Given the description of an element on the screen output the (x, y) to click on. 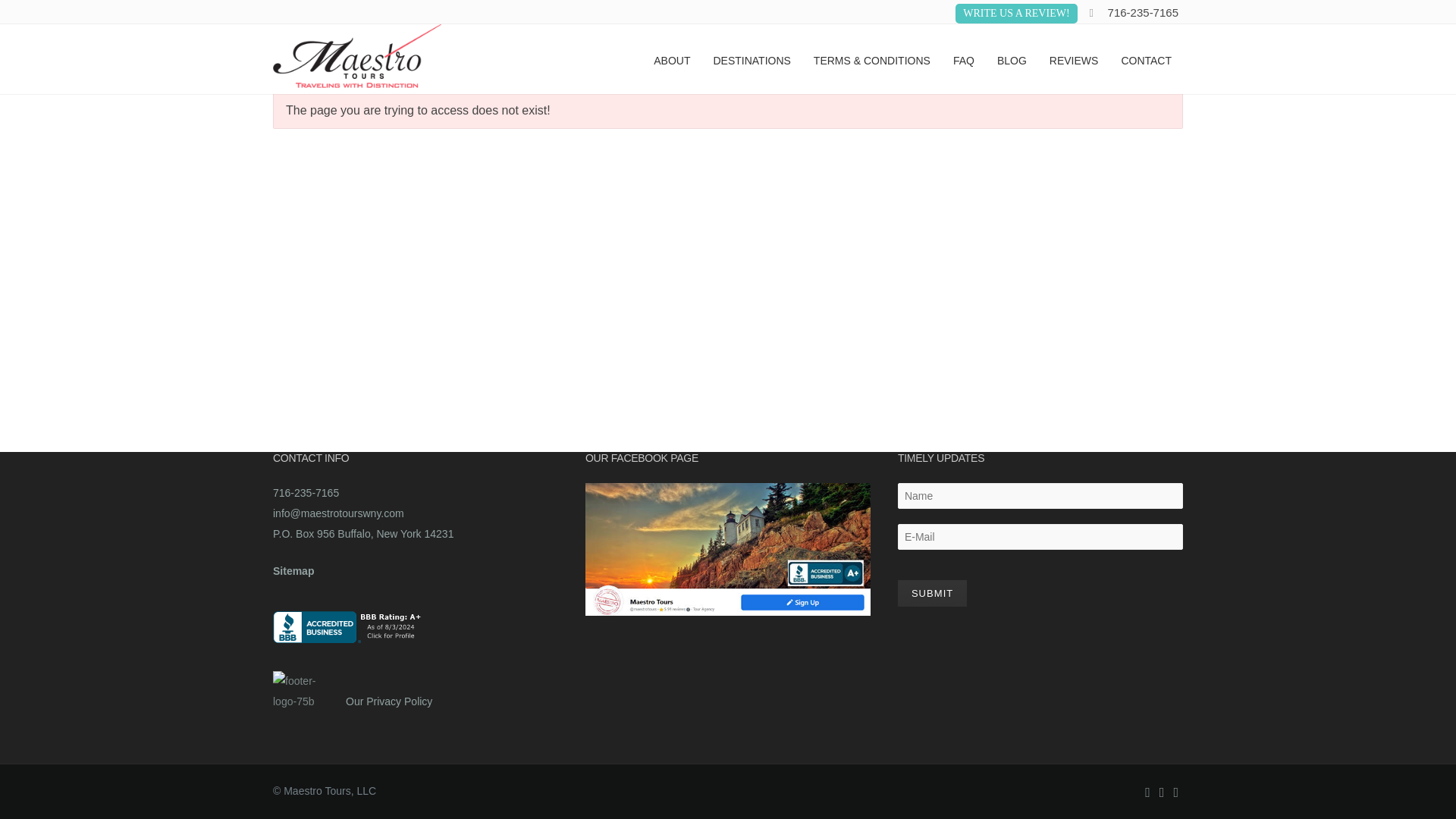
REVIEWS (1073, 59)
DESTINATIONS (751, 59)
CONTACT (1145, 59)
WRITE US A REVIEW! (1016, 13)
716-235-7165 (1142, 11)
